Given the description of an element on the screen output the (x, y) to click on. 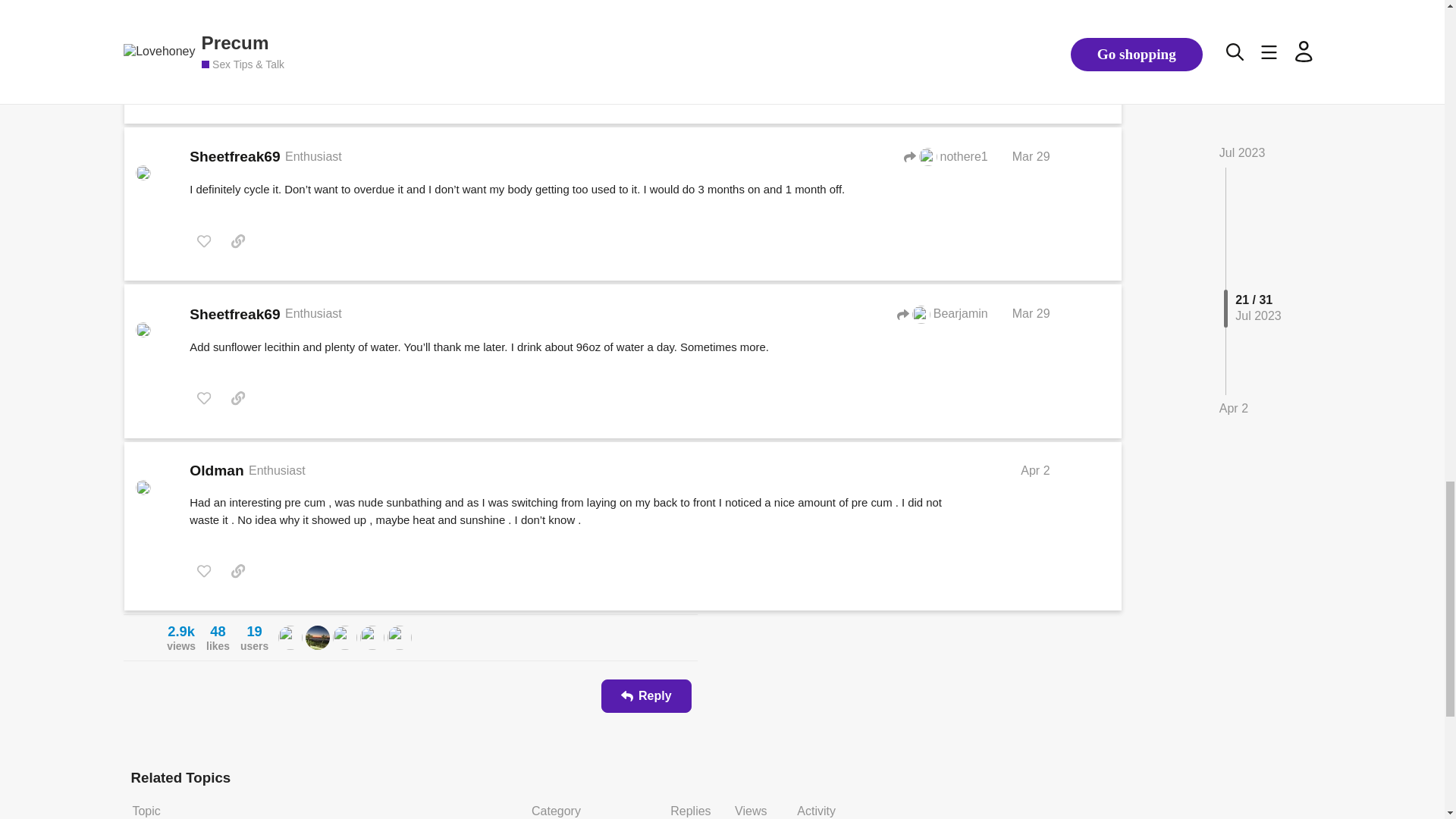
Longbeard (317, 636)
Baddod87 (399, 636)
Mercyun (371, 637)
Sheetfreak69 (290, 636)
Mercyun (371, 636)
Baddod87 (399, 637)
Longbeard (317, 637)
Bearjamin (344, 636)
Sheetfreak69 (180, 637)
